Given the description of an element on the screen output the (x, y) to click on. 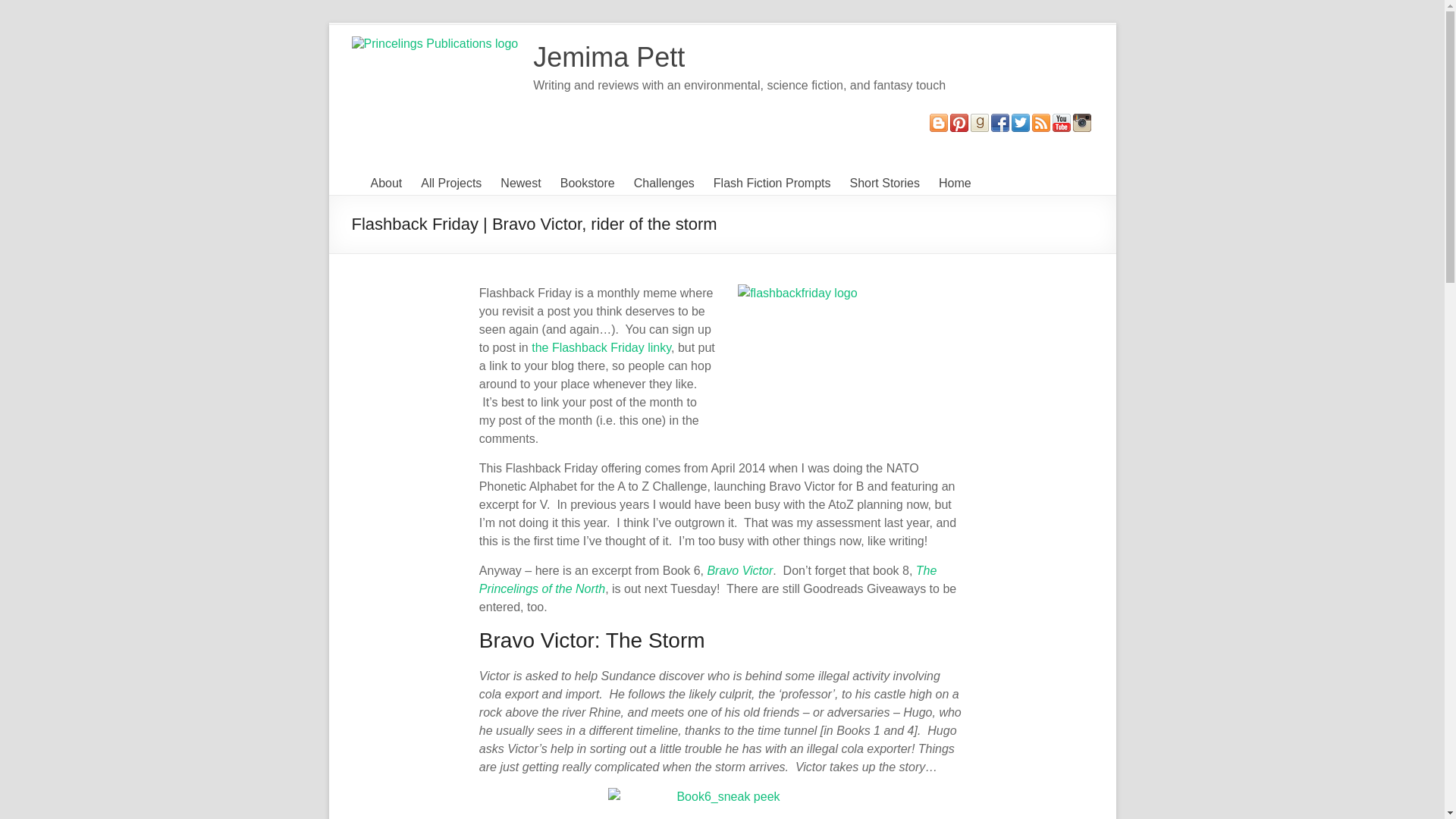
All Projects (450, 182)
jemimapett on Pinterest (958, 120)
Goodreads (979, 120)
Blogger Blog (938, 120)
YouTube Channel (1061, 120)
Bookstore (587, 182)
About (385, 182)
Newest (520, 182)
Jemima Pett (608, 56)
Jemima Pett (608, 56)
jemima.pett on Instagram (1080, 120)
Subscribe to RSS Feed (1039, 120)
Connect on Facebook (999, 120)
